Given the description of an element on the screen output the (x, y) to click on. 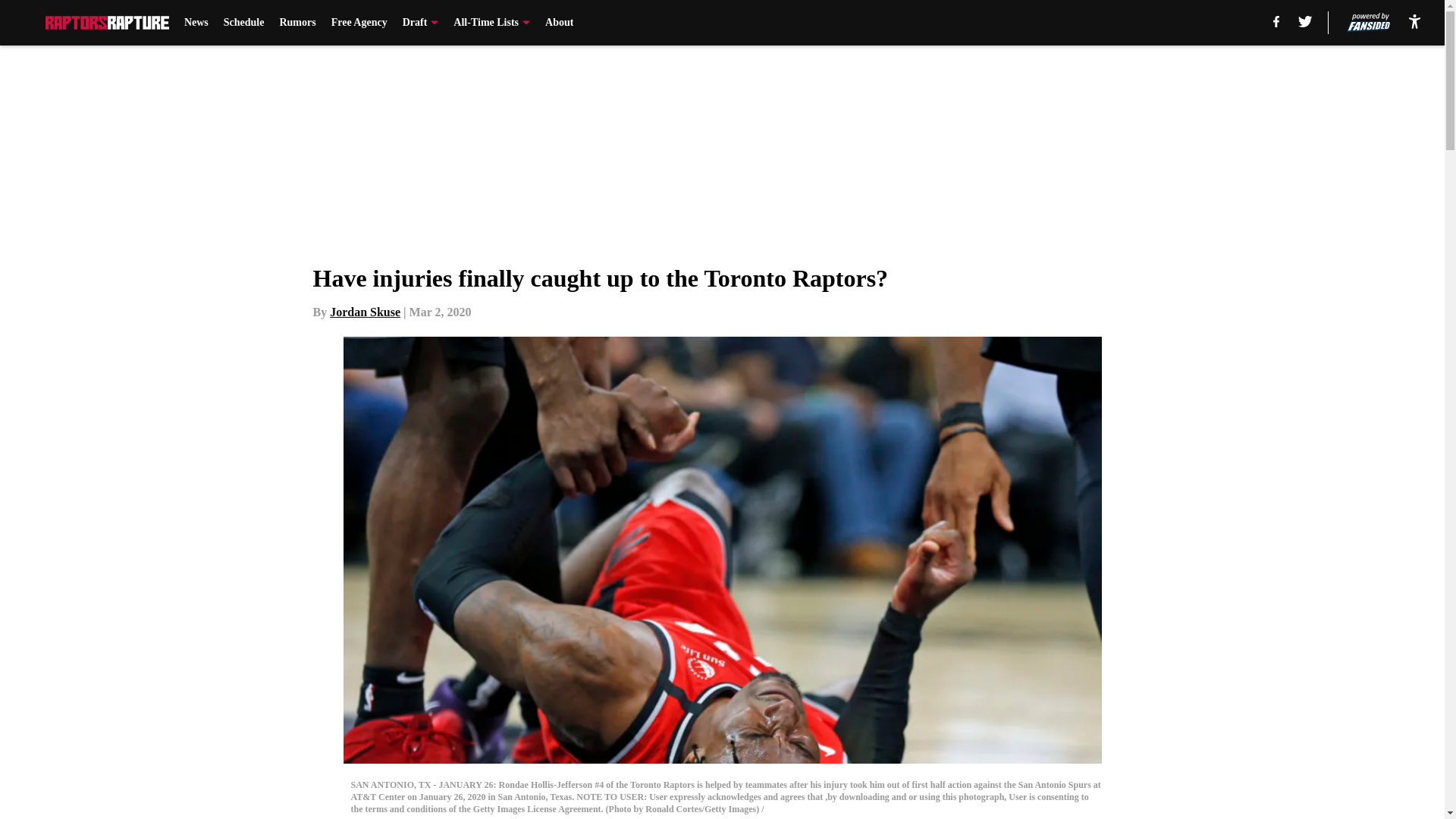
Draft (421, 22)
About (558, 22)
Free Agency (359, 22)
Rumors (297, 22)
Jordan Skuse (365, 311)
All-Time Lists (490, 22)
Schedule (244, 22)
News (196, 22)
